Given the description of an element on the screen output the (x, y) to click on. 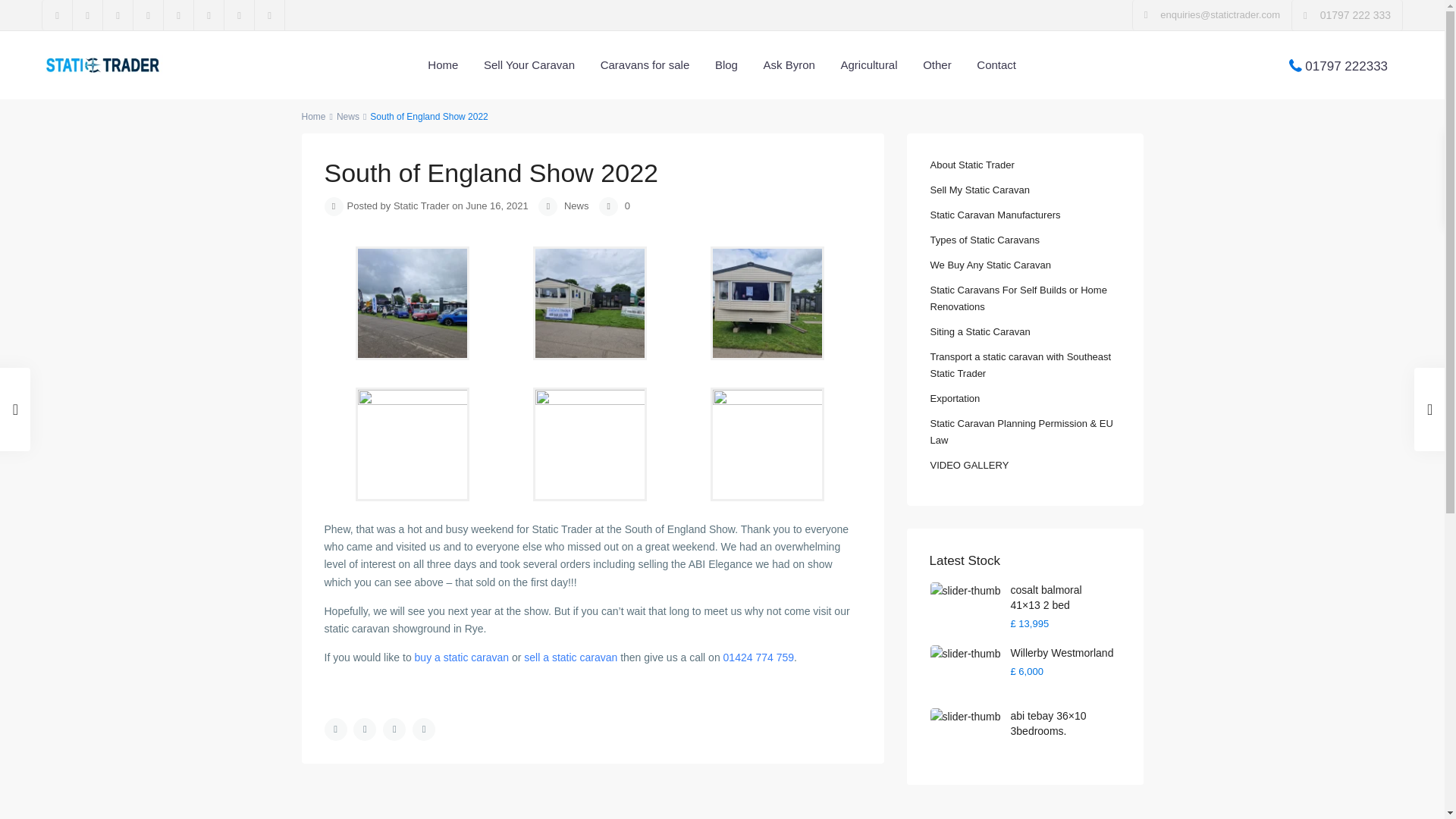
01797 222 333 (1355, 14)
